Given the description of an element on the screen output the (x, y) to click on. 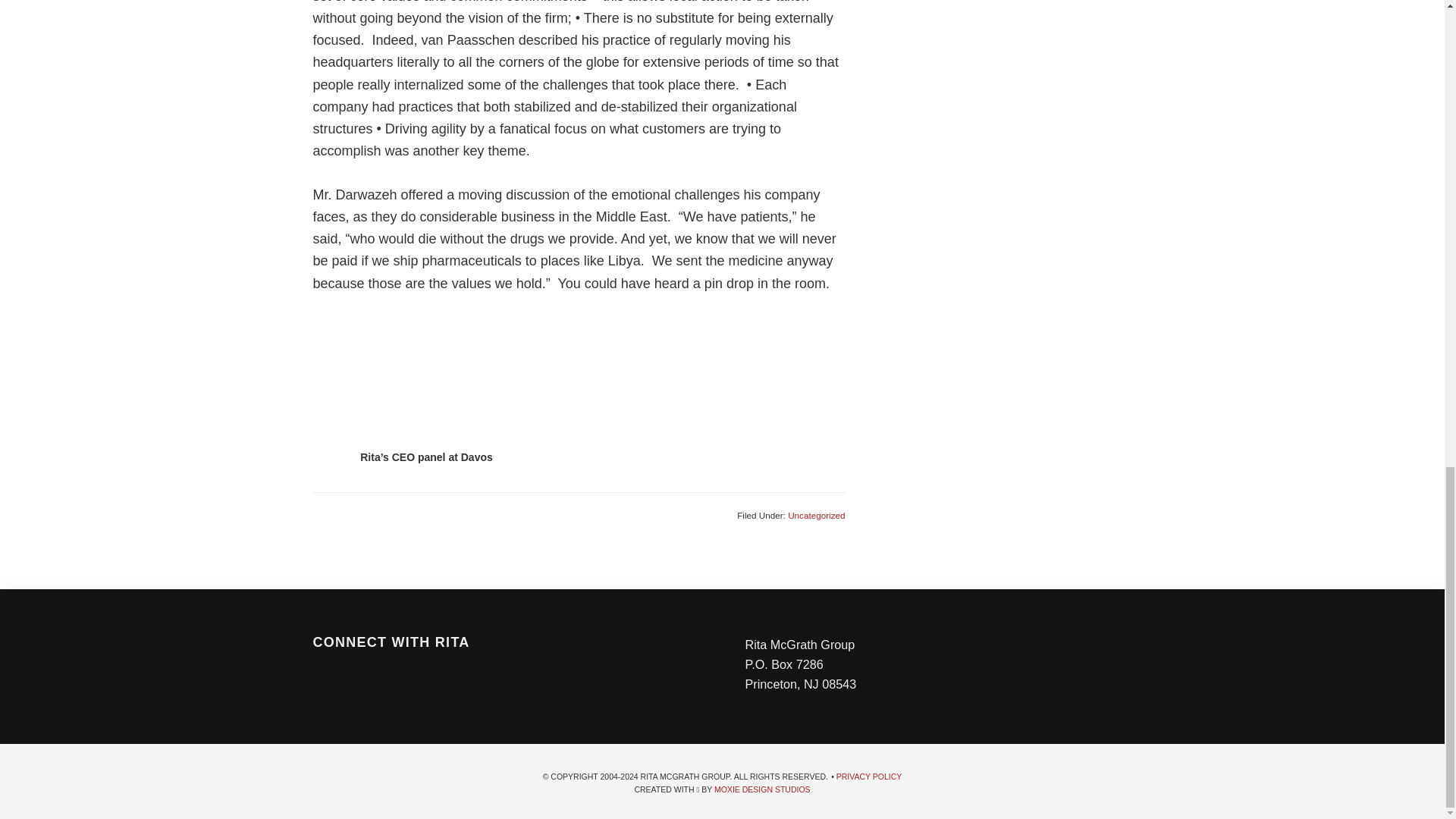
Website Design by Moxie Design Studios (762, 788)
Uncategorized (815, 515)
